Given the description of an element on the screen output the (x, y) to click on. 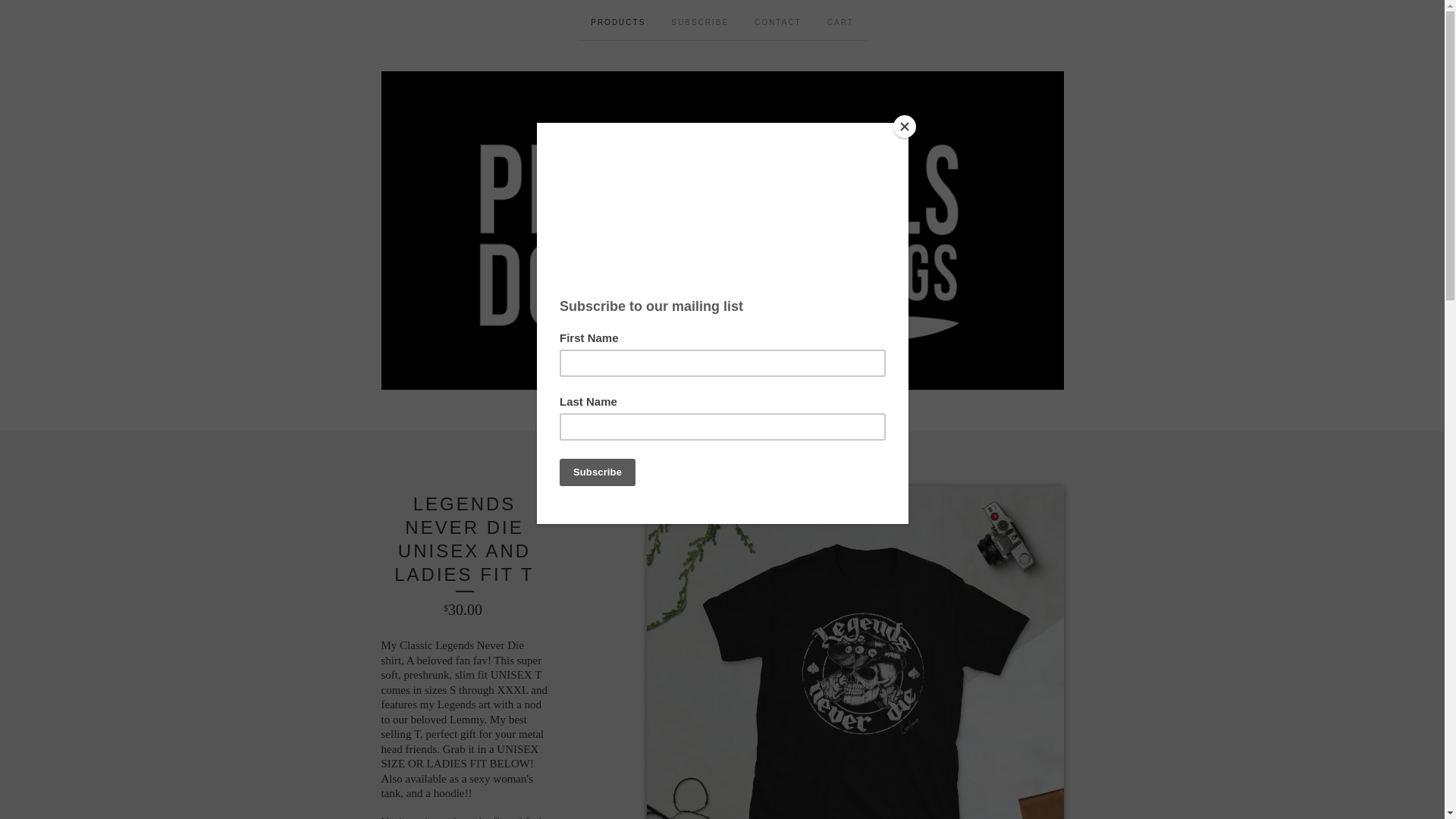
PRODUCTS (618, 20)
View Subscribe (699, 20)
CONTACT (777, 20)
SUBSCRIBE (699, 20)
CART (839, 20)
